Given the description of an element on the screen output the (x, y) to click on. 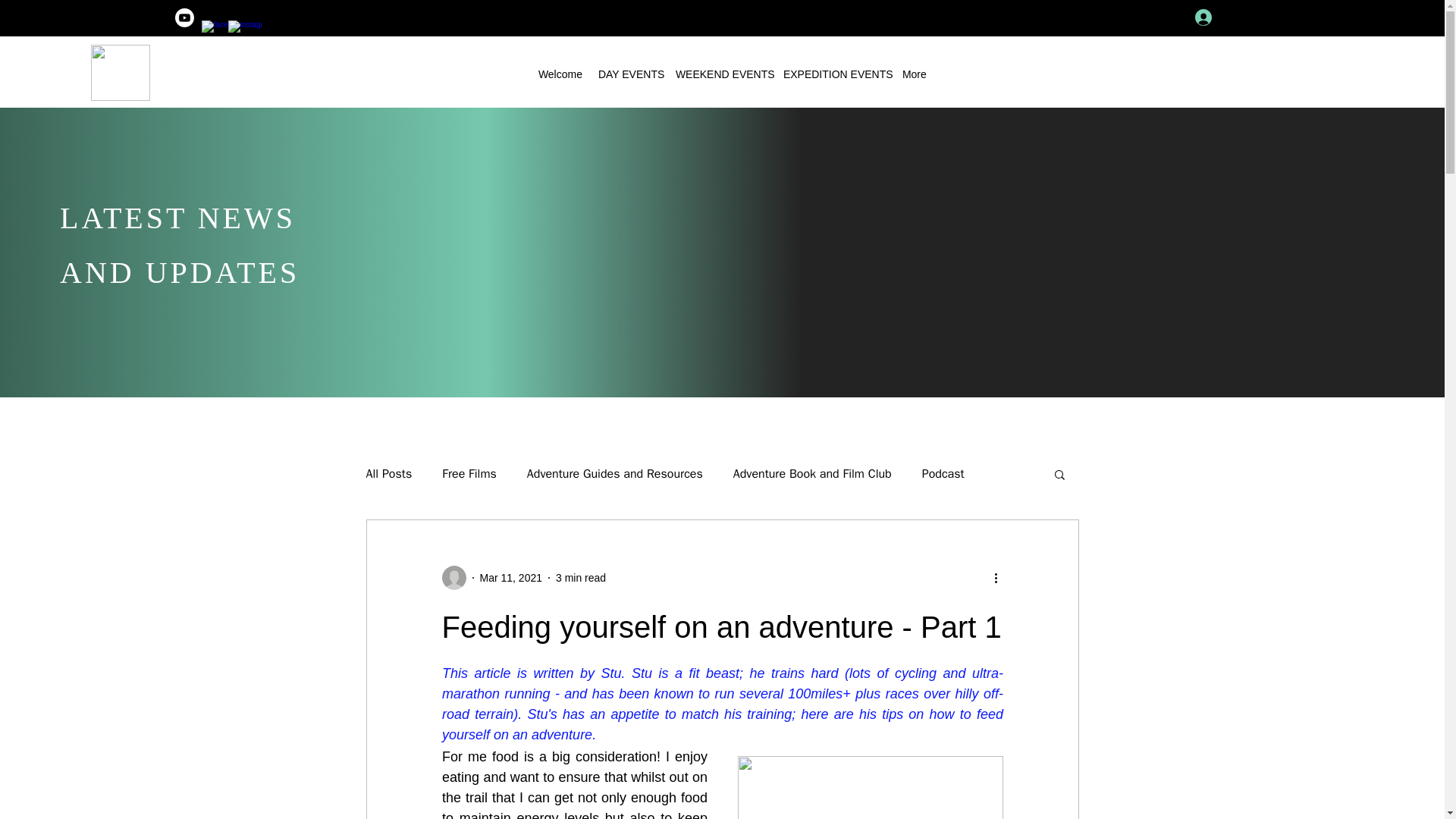
Free Films (469, 473)
Log In (1222, 17)
3 min read (580, 577)
All Posts (388, 473)
WEEKEND EVENTS (722, 72)
Welcome (561, 72)
EXPEDITION EVENTS (835, 72)
Mar 11, 2021 (510, 577)
DAY EVENTS (629, 72)
Adventure Guides and Resources (615, 473)
